Given the description of an element on the screen output the (x, y) to click on. 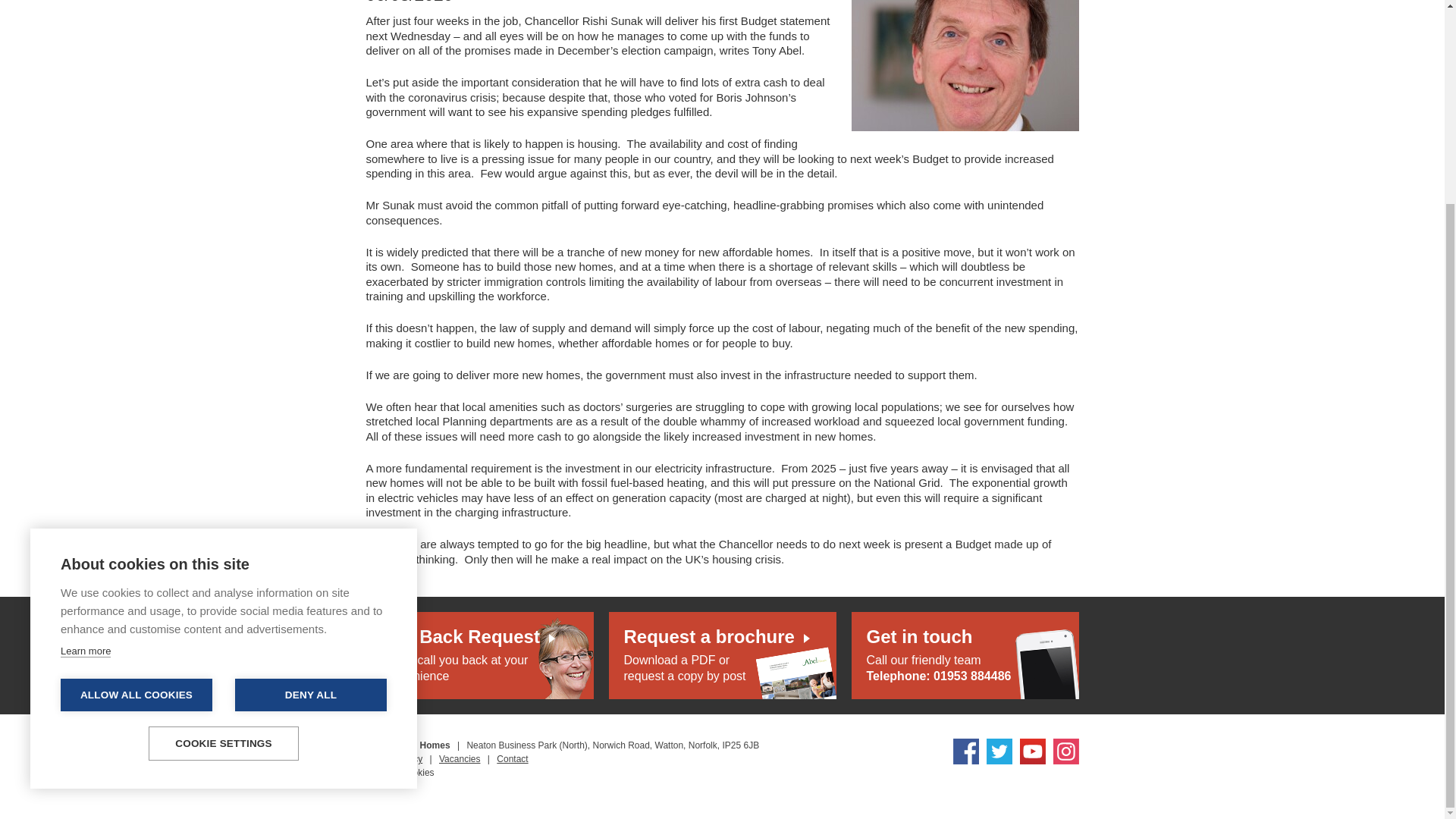
Facebook (965, 751)
Vacancies (459, 758)
Contact (511, 758)
Privacy Policy (478, 655)
Manage Cookies (393, 758)
